Given the description of an element on the screen output the (x, y) to click on. 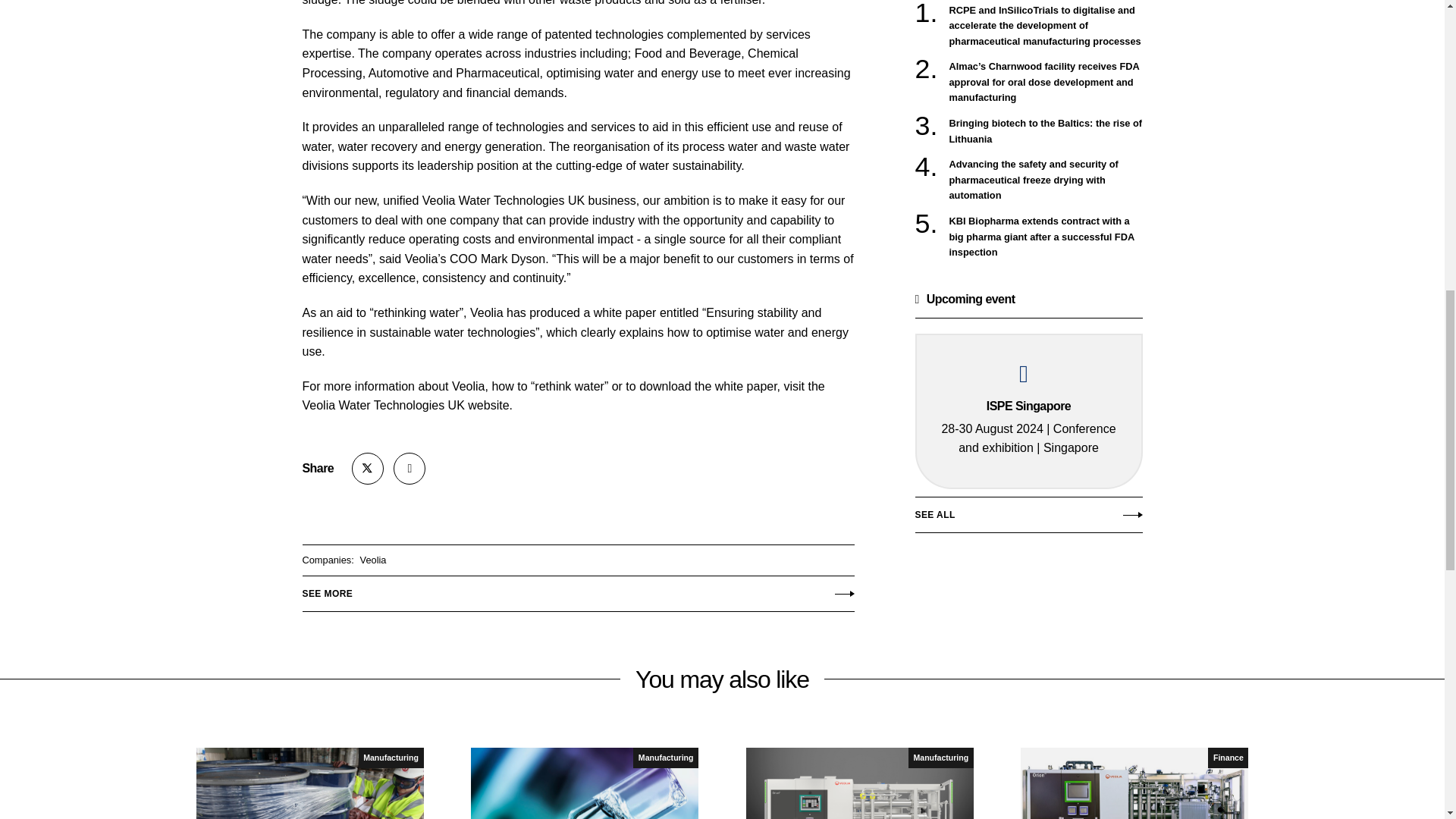
SEE MORE (577, 589)
Manufacturing (390, 757)
Bringing biotech to the Baltics: the rise of Lithuania (1045, 131)
LinkedIn (409, 468)
Follow Manufacturing Chemist on LinkedIn (409, 468)
Follow Manufacturing Chemist on X (368, 468)
X (368, 468)
SEE ALL (1027, 517)
Manufacturing (665, 757)
